Given the description of an element on the screen output the (x, y) to click on. 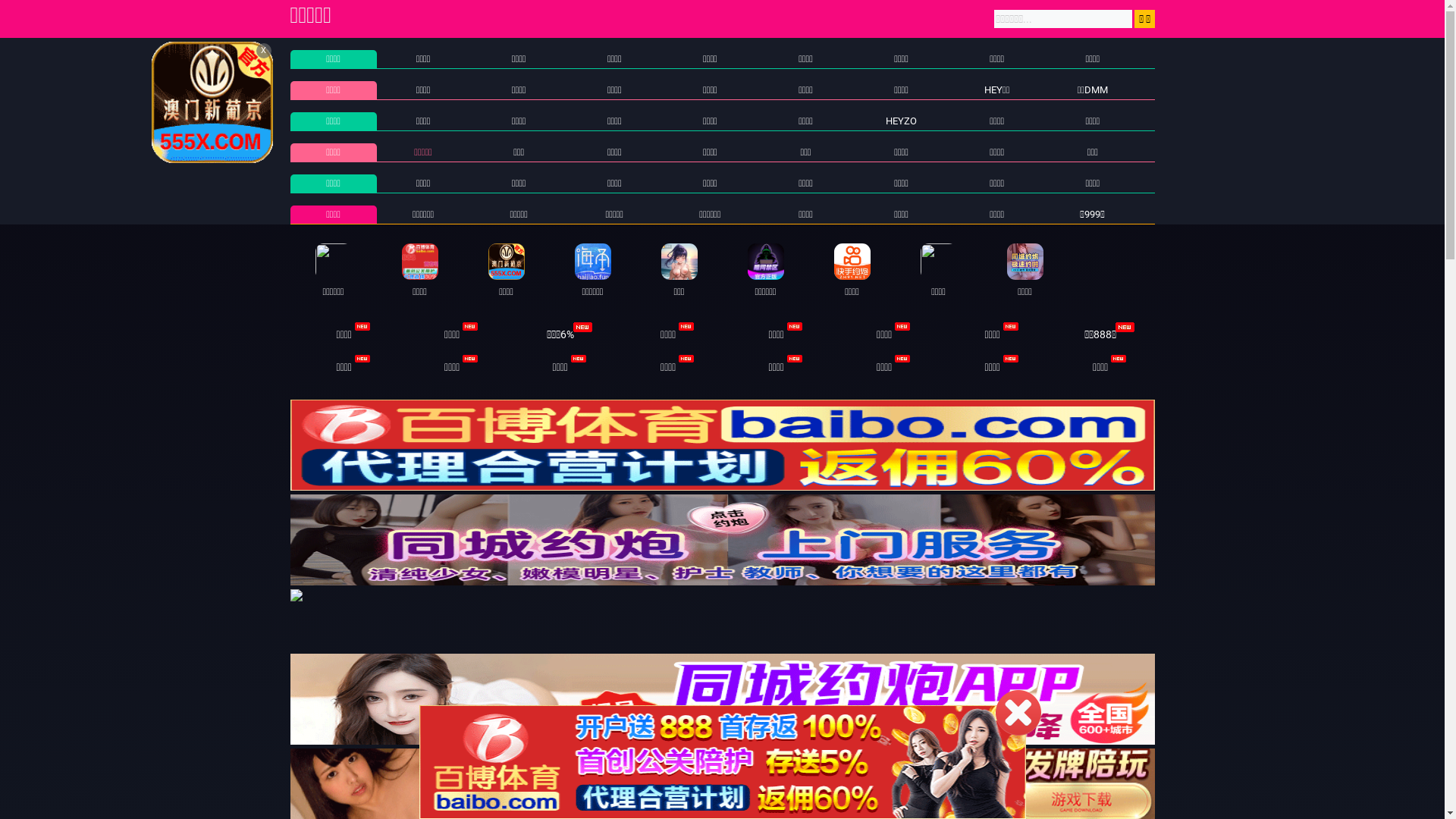
HEYZO Element type: text (900, 120)
